Given the description of an element on the screen output the (x, y) to click on. 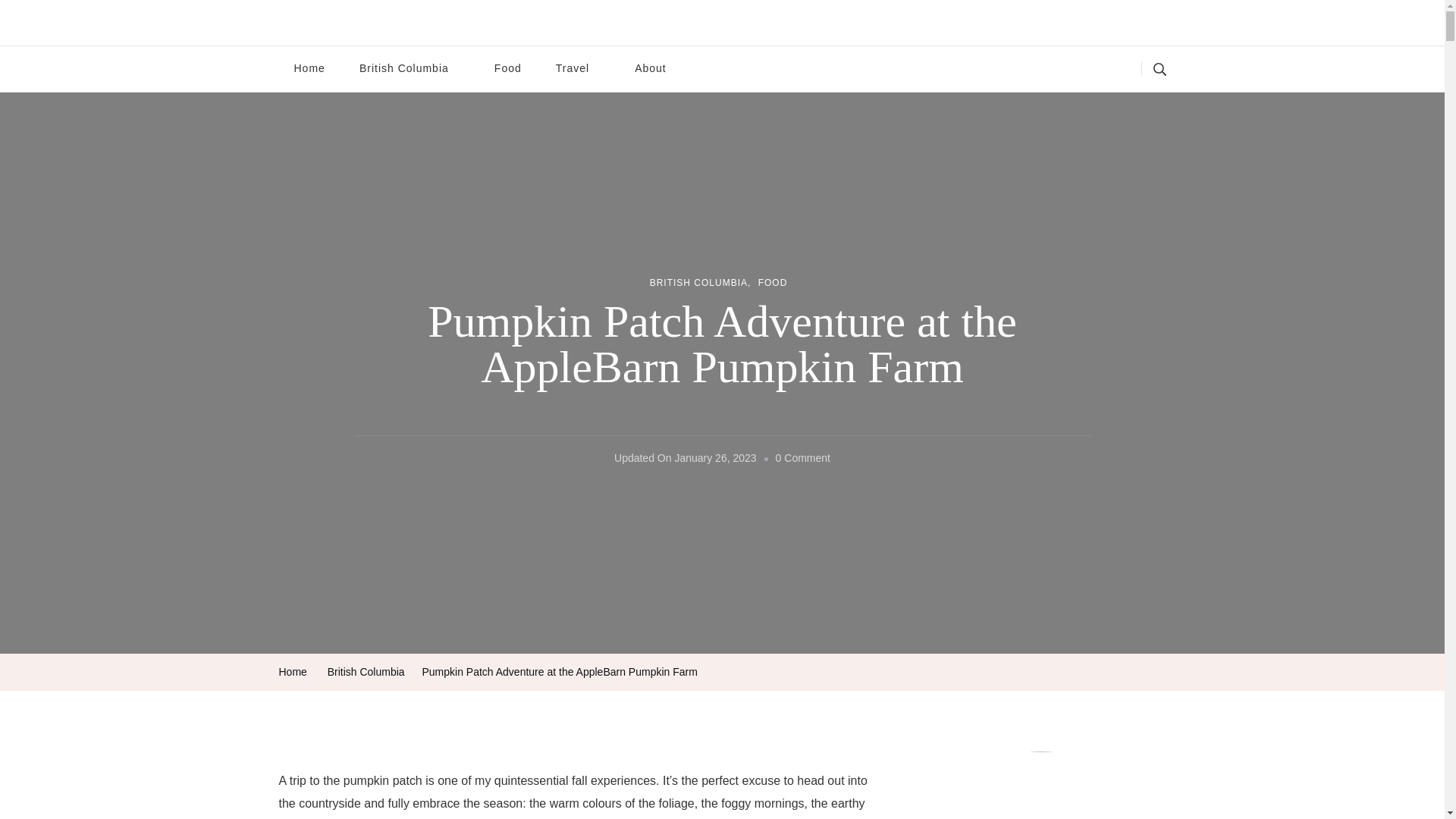
British Columbia (409, 68)
British Columbia (365, 671)
Travel (577, 68)
Home (309, 68)
FOOD (772, 283)
January 26, 2023 (714, 458)
BCRobyn (327, 33)
About (650, 68)
Home (293, 671)
Food (508, 68)
BRITISH COLUMBIA (700, 283)
